Given the description of an element on the screen output the (x, y) to click on. 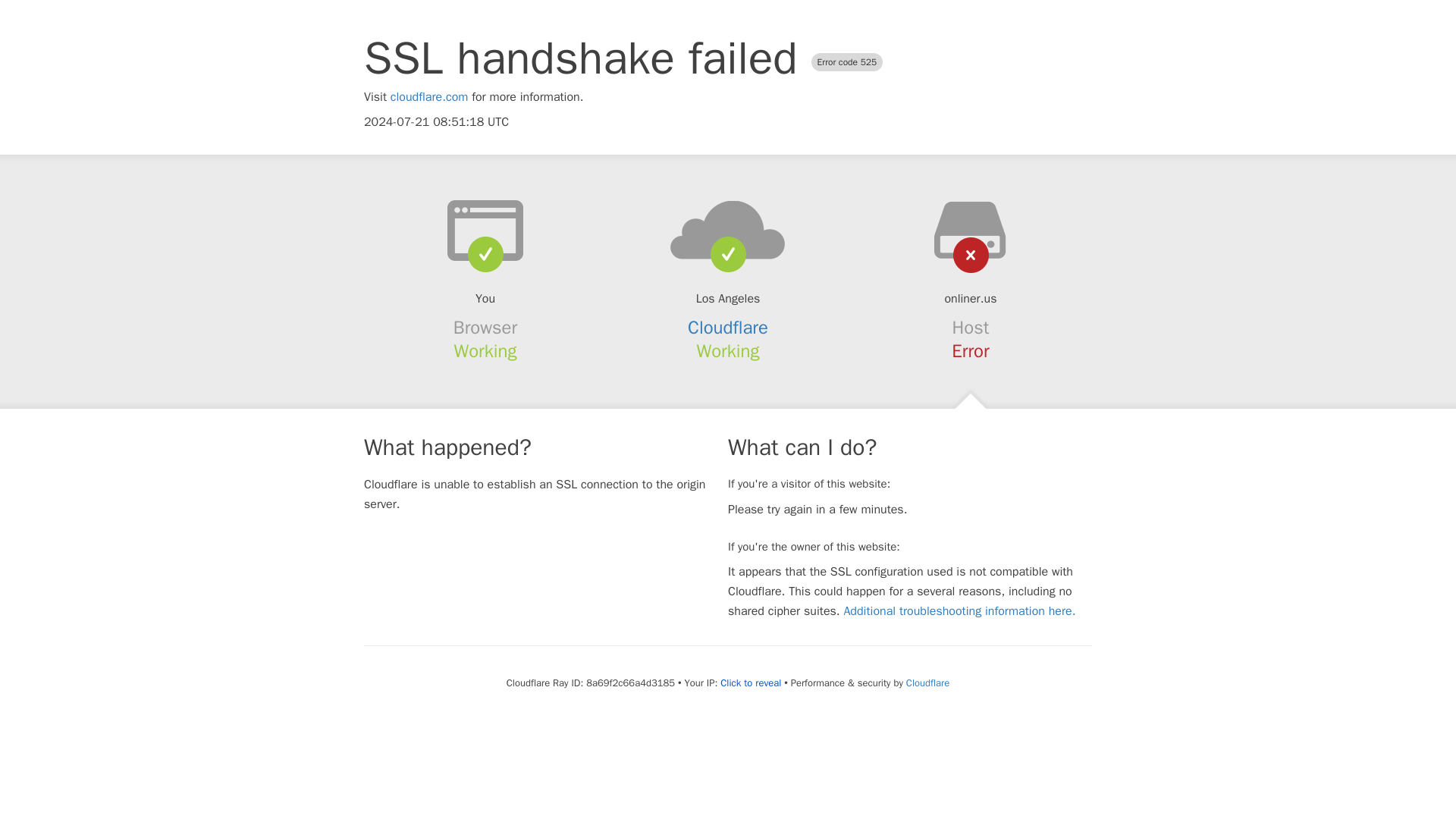
Click to reveal (750, 683)
Cloudflare (927, 682)
Additional troubleshooting information here. (959, 611)
cloudflare.com (429, 96)
Cloudflare (727, 327)
